Given the description of an element on the screen output the (x, y) to click on. 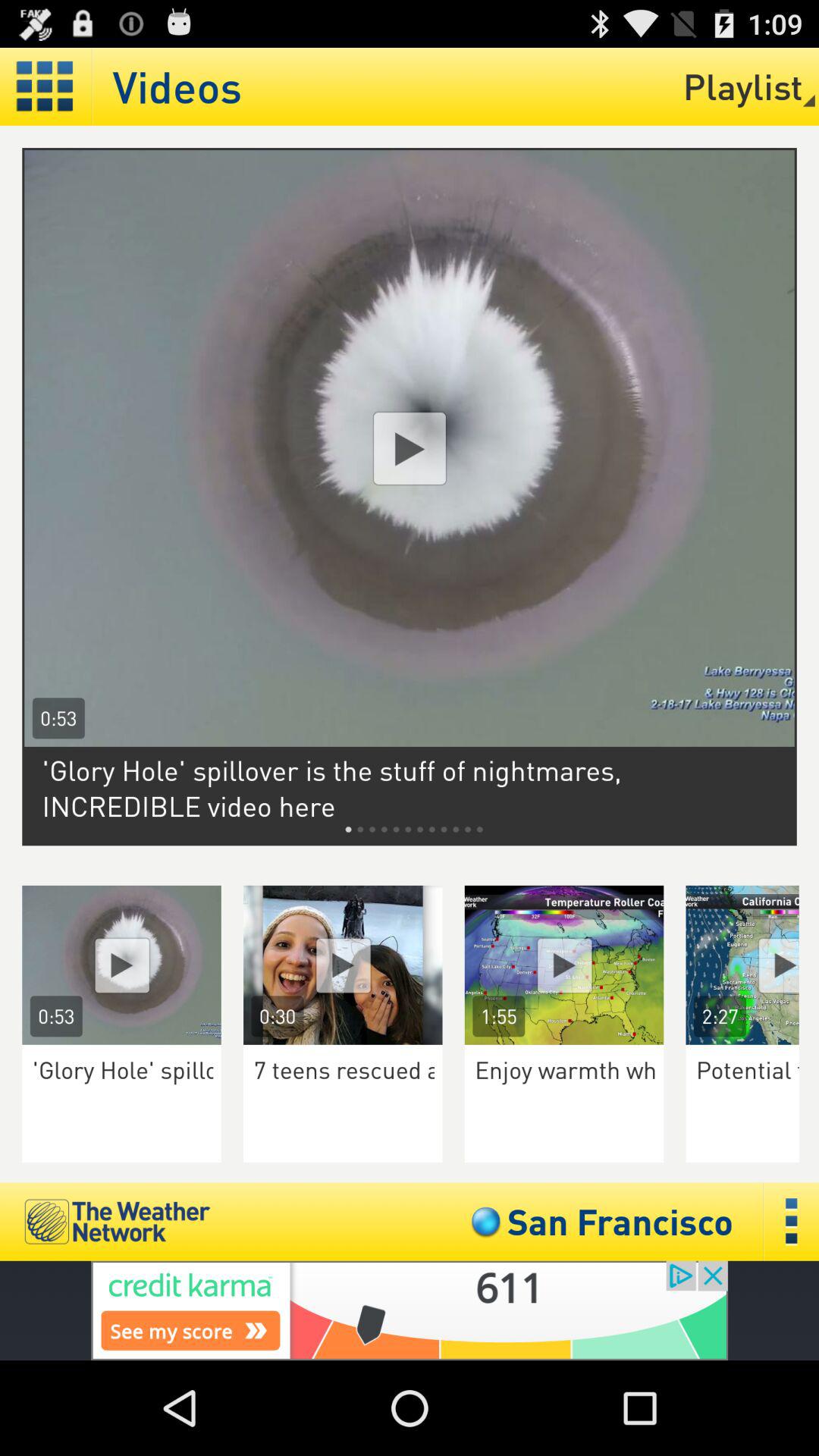
video icon (121, 964)
